Given the description of an element on the screen output the (x, y) to click on. 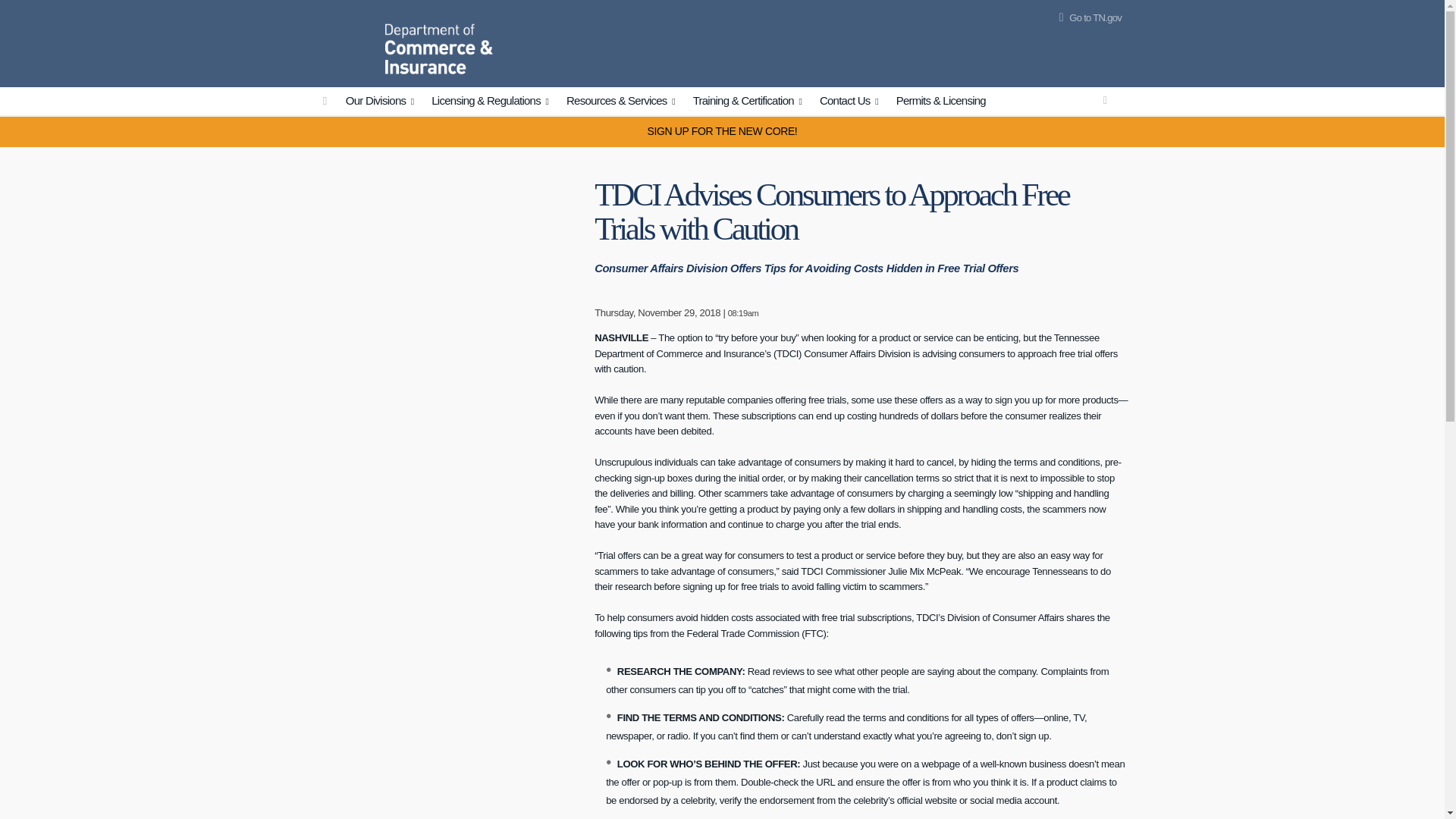
Home (347, 41)
Contact Us (850, 101)
Our Divisions (381, 101)
Go to TN.gov (1086, 18)
